Given the description of an element on the screen output the (x, y) to click on. 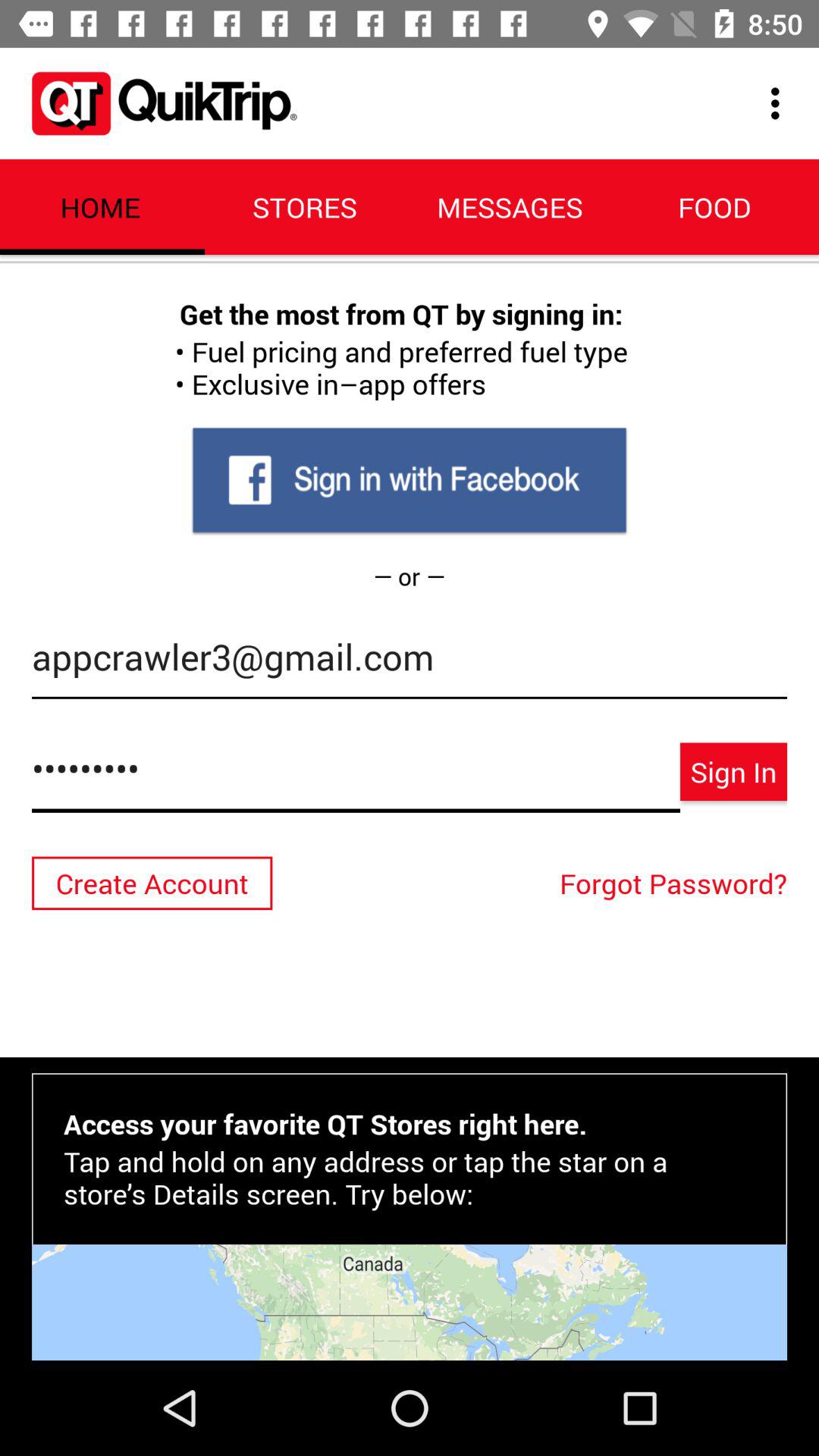
turn off appcrawler3@gmail.com item (409, 664)
